Given the description of an element on the screen output the (x, y) to click on. 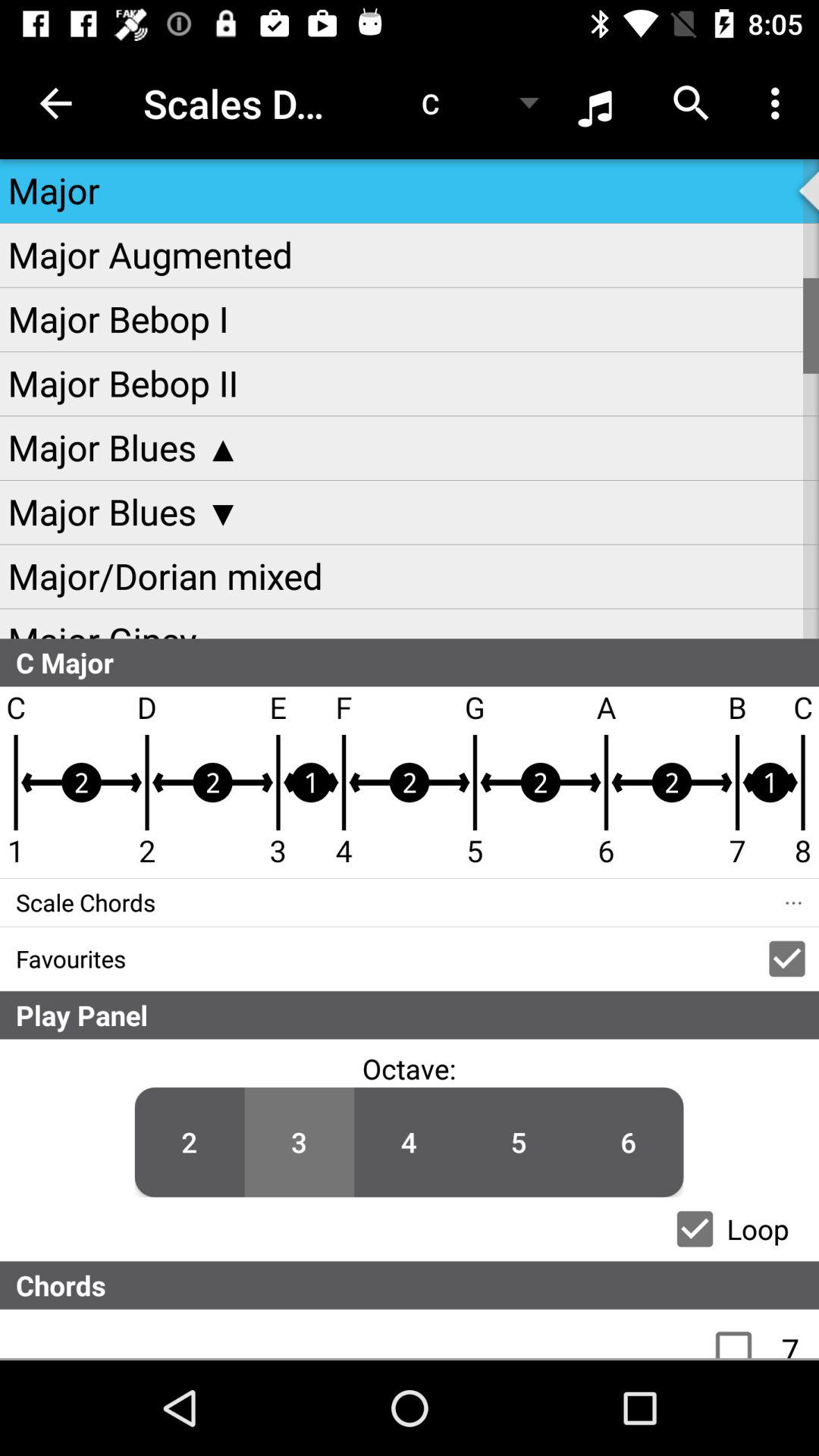
favourites option (787, 958)
